Given the description of an element on the screen output the (x, y) to click on. 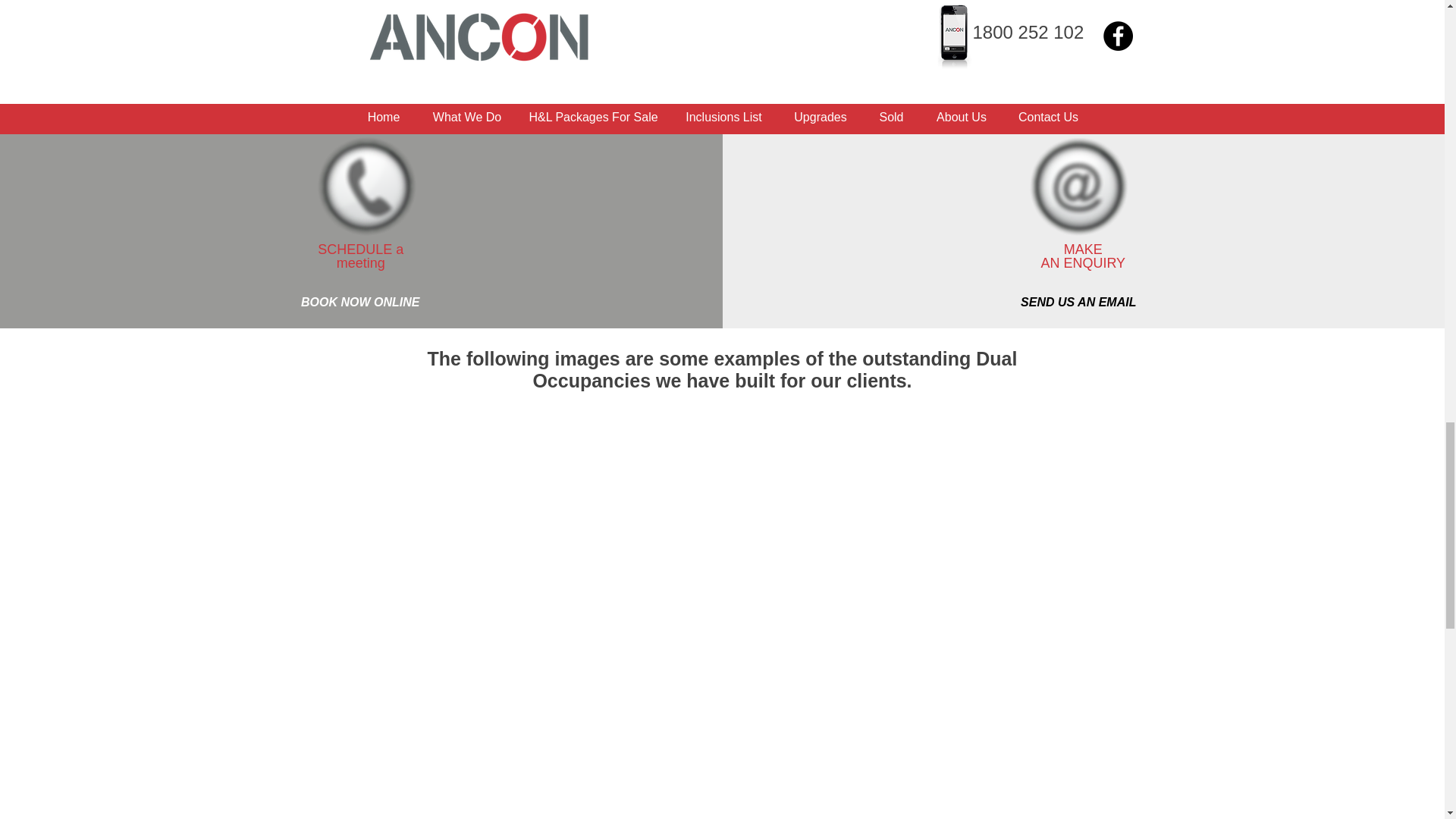
BOOK NOW ONLINE (360, 302)
SEND US AN EMAIL (1077, 302)
